Given the description of an element on the screen output the (x, y) to click on. 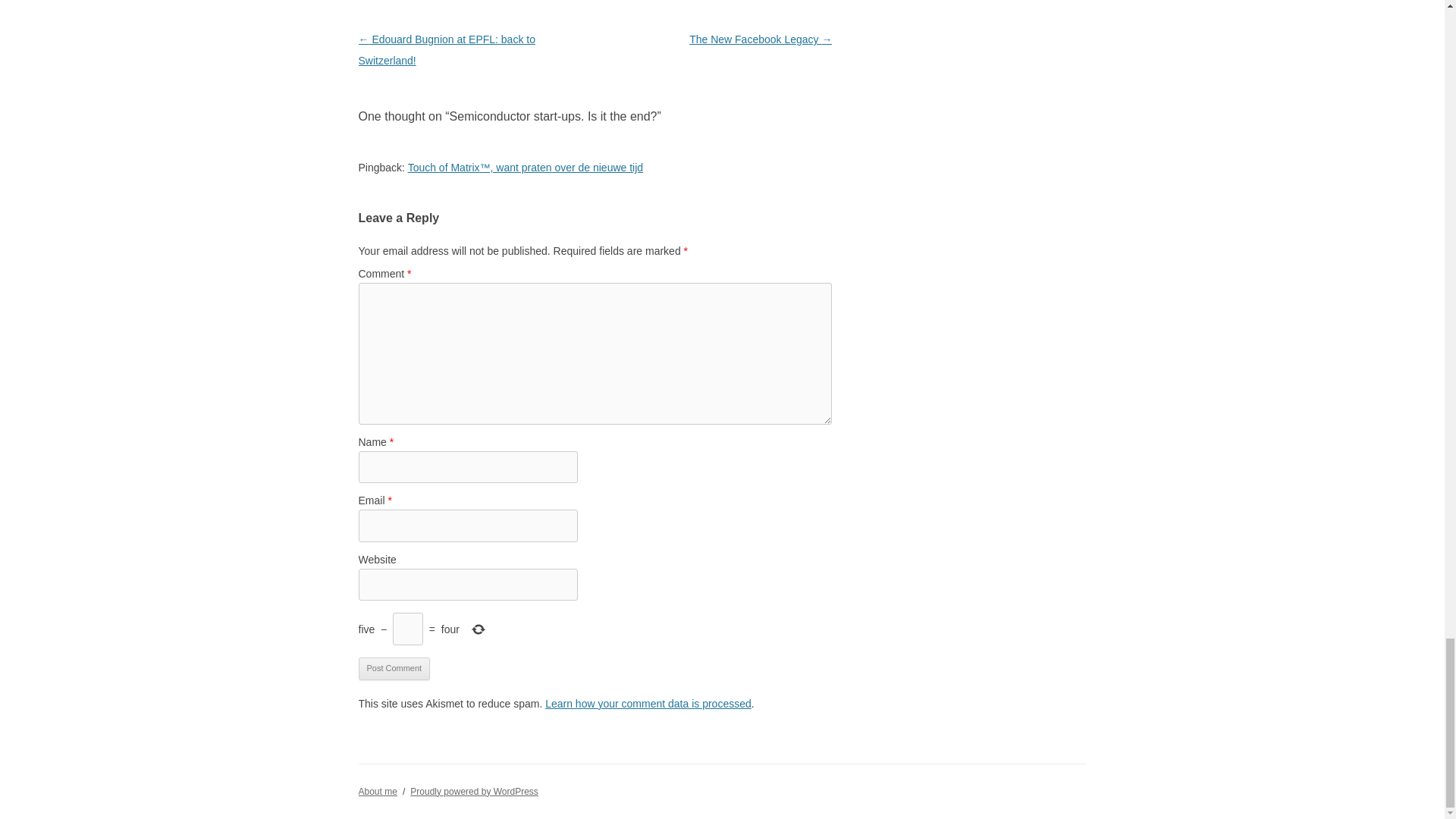
Learn how your comment data is processed (647, 703)
Post Comment (393, 668)
Semantic Personal Publishing Platform (474, 791)
Post Comment (393, 668)
